Given the description of an element on the screen output the (x, y) to click on. 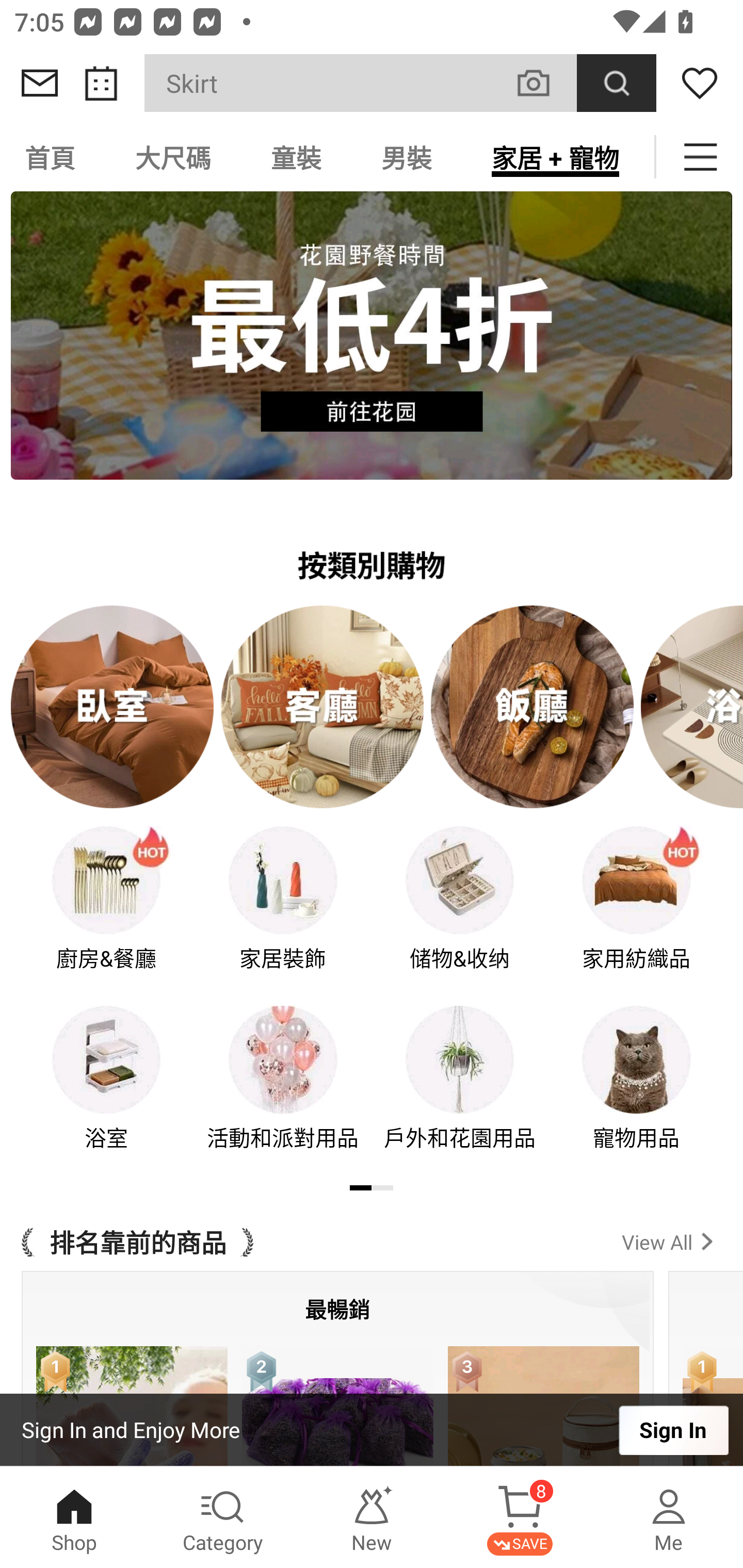
Wishlist (699, 82)
VISUAL SEARCH (543, 82)
首頁 (52, 156)
大尺碼 (172, 156)
童裝 (295, 156)
男裝 (406, 156)
家居 + 寵物 (555, 156)
廚房&餐廳 (105, 912)
家居裝飾 (282, 912)
储物&收纳 (459, 912)
家用紡織品 (636, 912)
浴室 (105, 1091)
活動和派對用品 (282, 1091)
戶外和花園用品 (459, 1091)
寵物用品 (636, 1091)
Sign In and Enjoy More Sign In (371, 1429)
Category (222, 1517)
New (371, 1517)
Cart 8 SAVE (519, 1517)
Me (668, 1517)
